Given the description of an element on the screen output the (x, y) to click on. 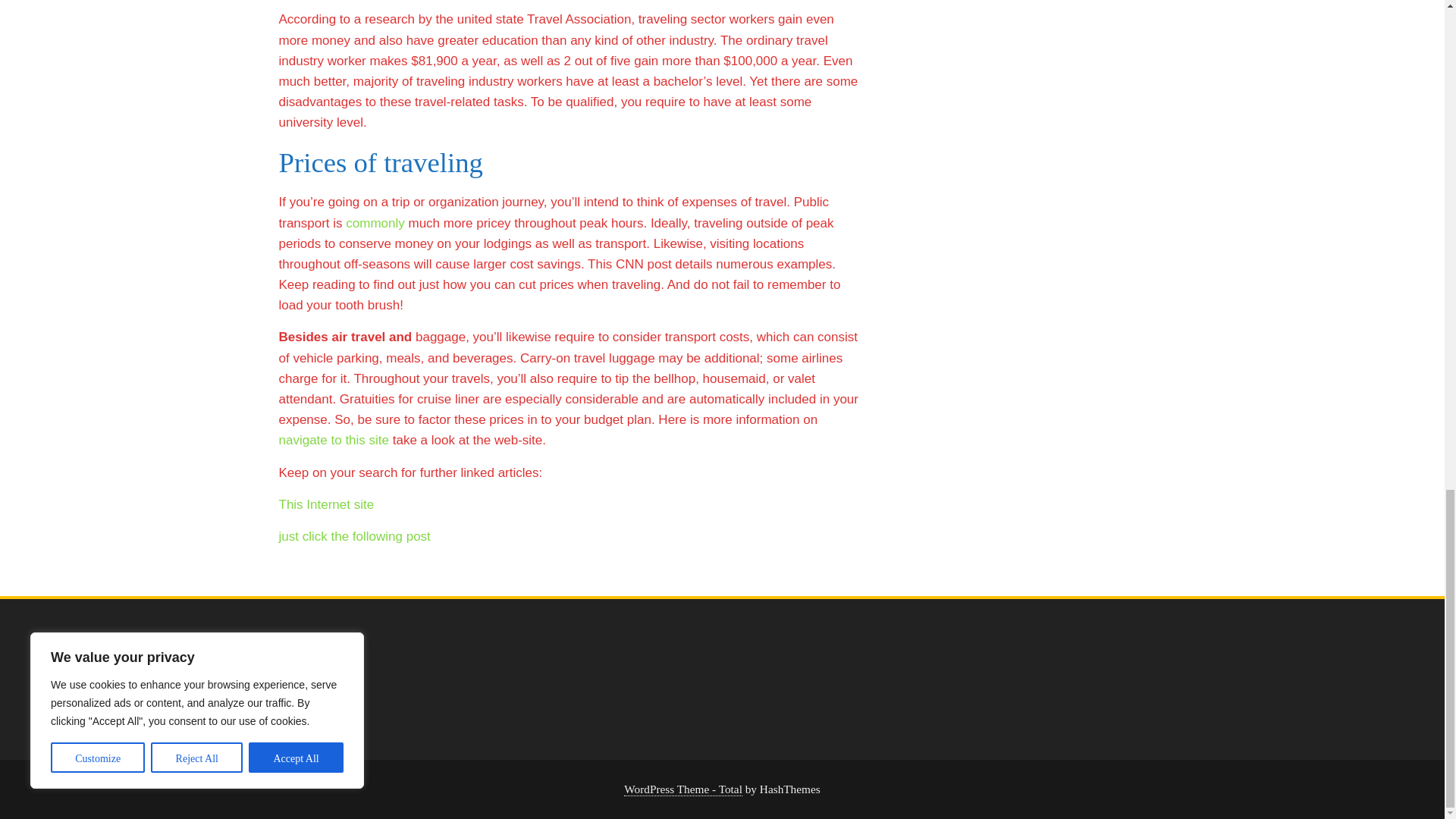
navigate to this site (334, 440)
This Internet site (326, 504)
commonly (375, 223)
just click the following post (354, 536)
